Given the description of an element on the screen output the (x, y) to click on. 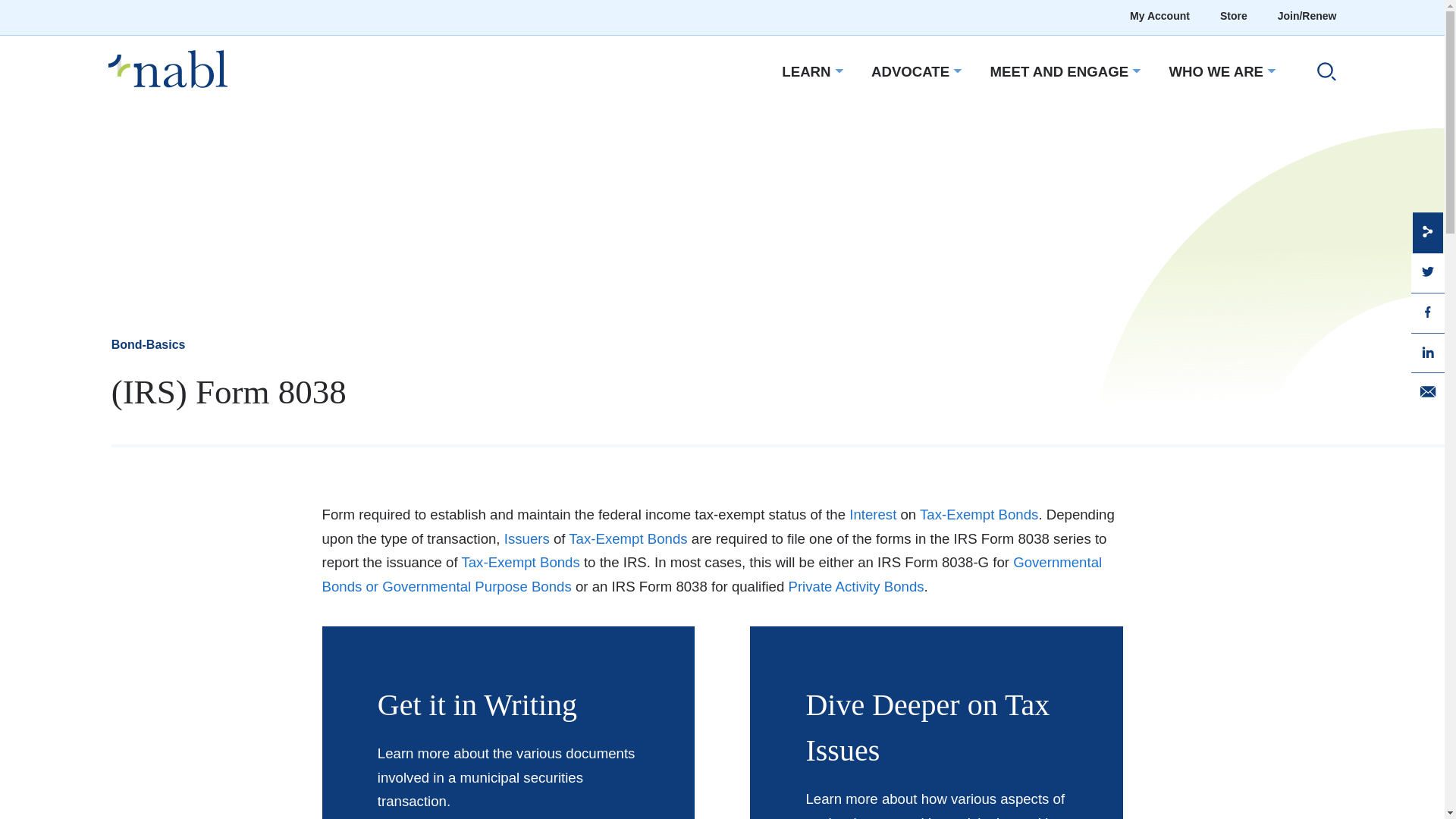
Share this page on Facebook (1427, 311)
Open sub menu (1269, 70)
MEET AND ENGAGE (1059, 73)
Open sub menu (1134, 70)
WHO WE ARE (1216, 73)
Share this page on LinkedIn (1427, 351)
Open sub menu (837, 70)
Toggle search open or closed (1320, 73)
Store (1233, 17)
